Given the description of an element on the screen output the (x, y) to click on. 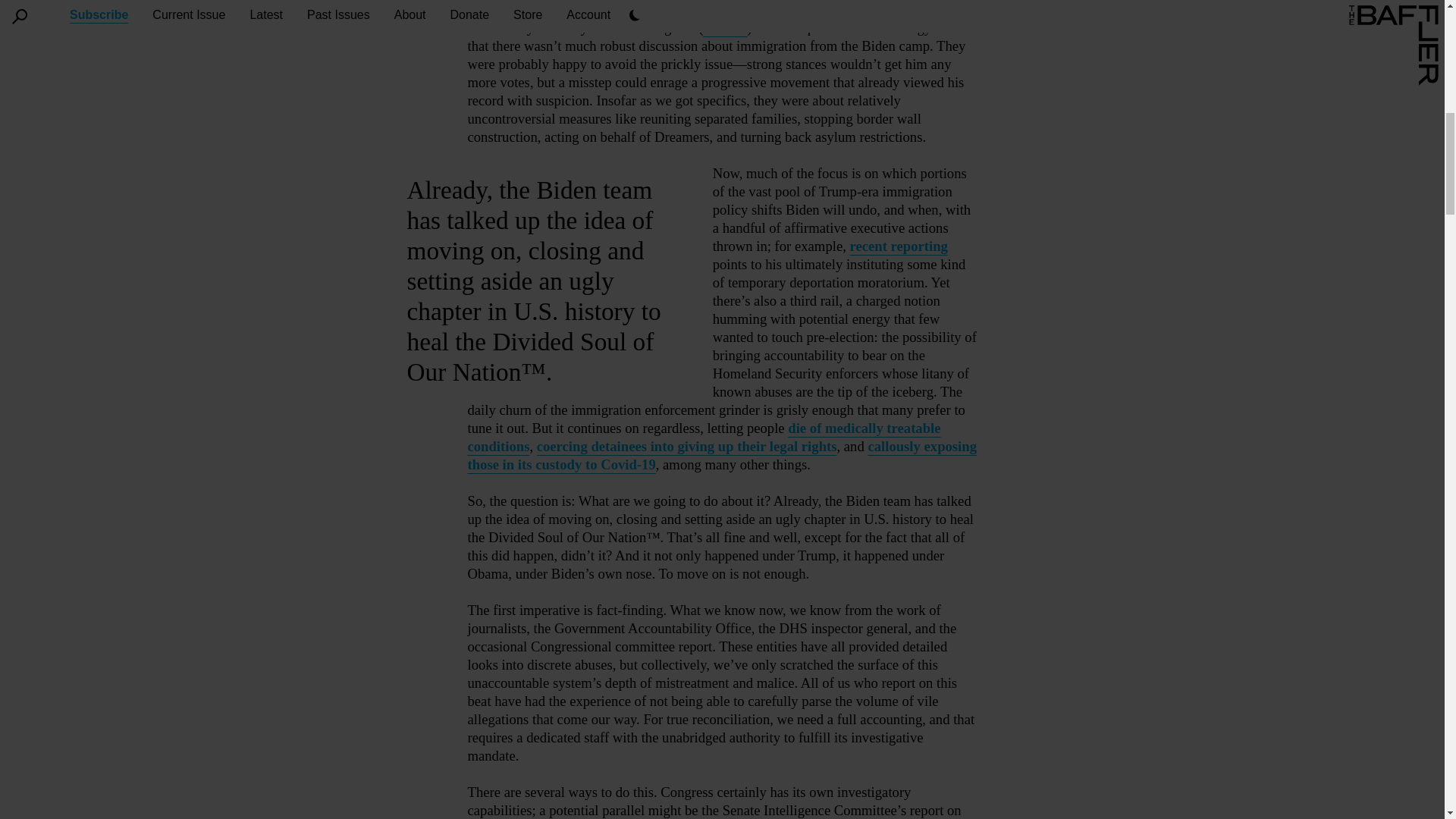
coercing detainees into giving up their legal rights (687, 446)
die of medically treatable conditions (703, 437)
or both (724, 27)
callously exposing those in its custody to Covid-19 (721, 455)
recent reporting (898, 245)
